Given the description of an element on the screen output the (x, y) to click on. 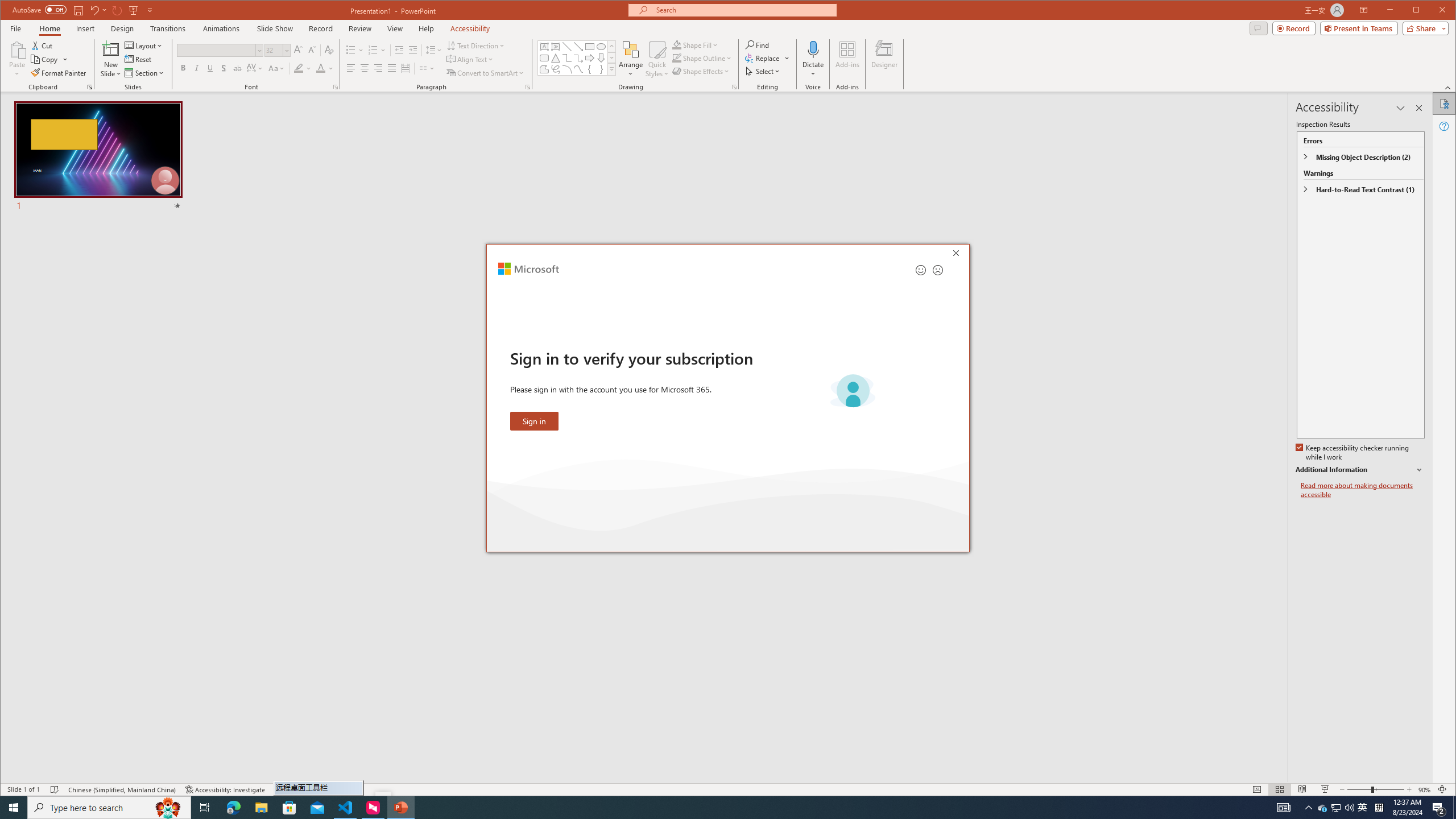
Send a frown for feedback (937, 269)
Additional Information (1360, 469)
Microsoft Edge (233, 807)
